Given the description of an element on the screen output the (x, y) to click on. 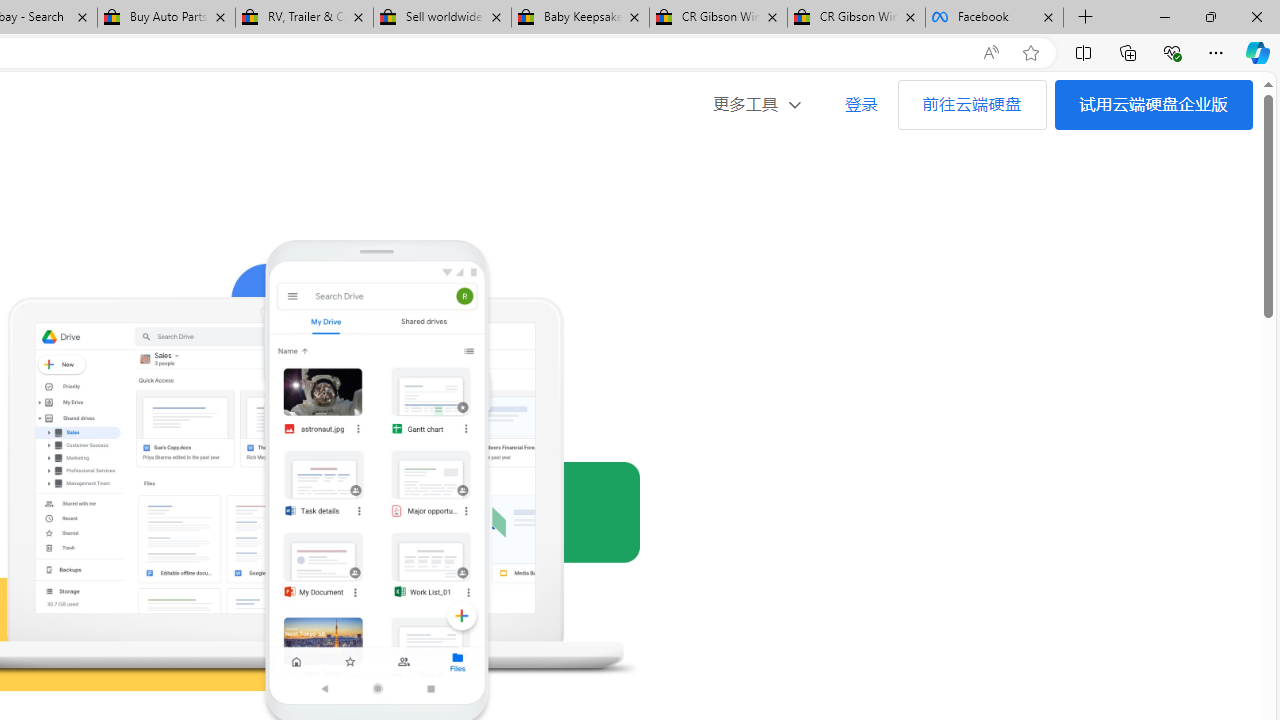
Baby Keepsakes & Announcements for sale | eBay (580, 17)
RV, Trailer & Camper Steps & Ladders for sale | eBay (303, 17)
